Given the description of an element on the screen output the (x, y) to click on. 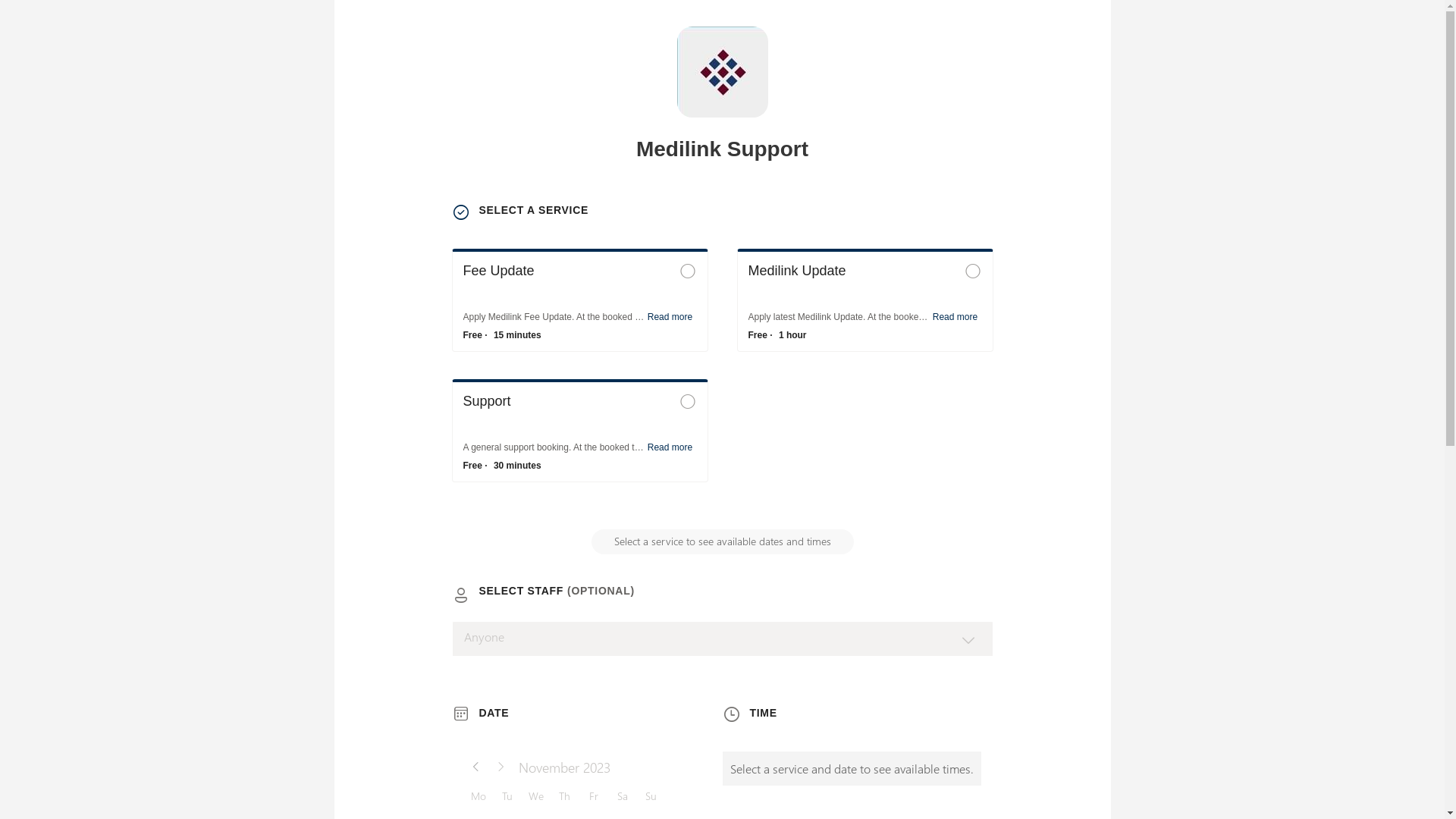
Read more Element type: text (669, 316)
Next month Element type: hover (500, 767)
Read more Element type: text (669, 447)
Medilink Support Element type: hover (721, 71)
Read more Element type: text (954, 316)
Previous month - Not available Element type: hover (476, 767)
Anyone Element type: text (722, 639)
